Given the description of an element on the screen output the (x, y) to click on. 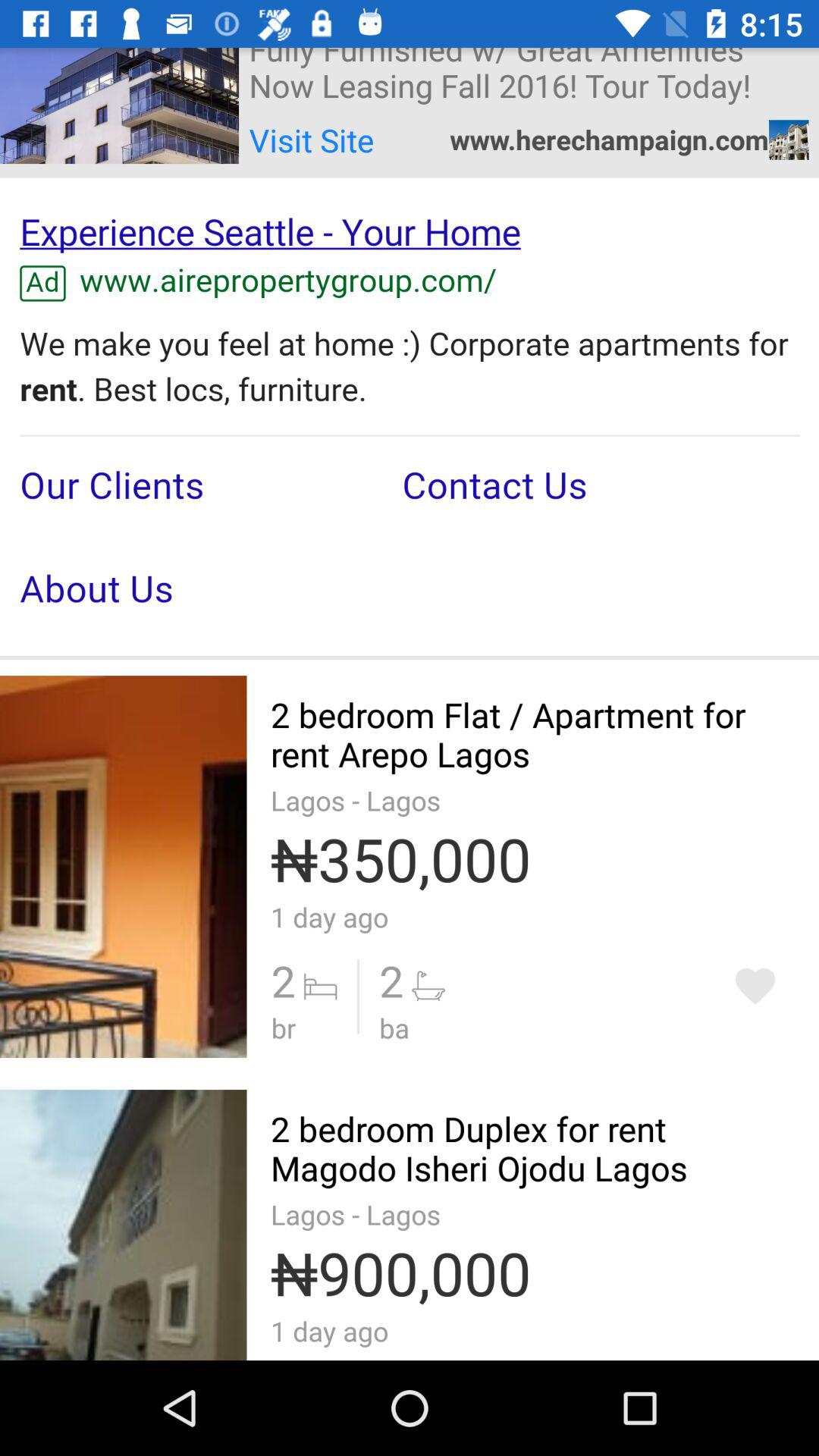
seeing in the paragraph (409, 416)
